Given the description of an element on the screen output the (x, y) to click on. 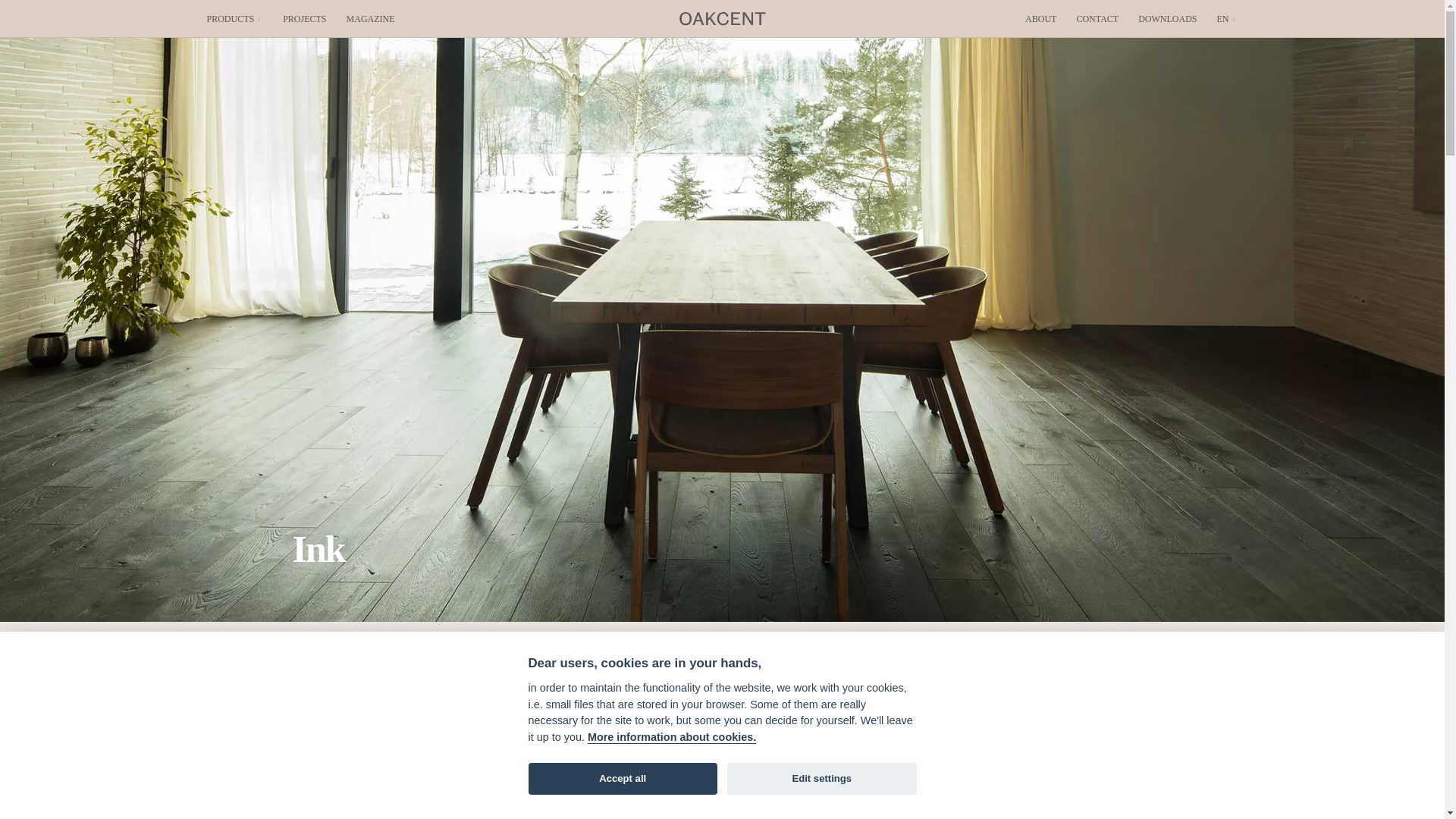
DOWNLOADS (1167, 18)
EN (1226, 18)
ABOUT (1041, 18)
PRODUCTS (234, 18)
MAGAZINE (370, 18)
PROJECTS (304, 18)
CONTACT (1096, 18)
